Given the description of an element on the screen output the (x, y) to click on. 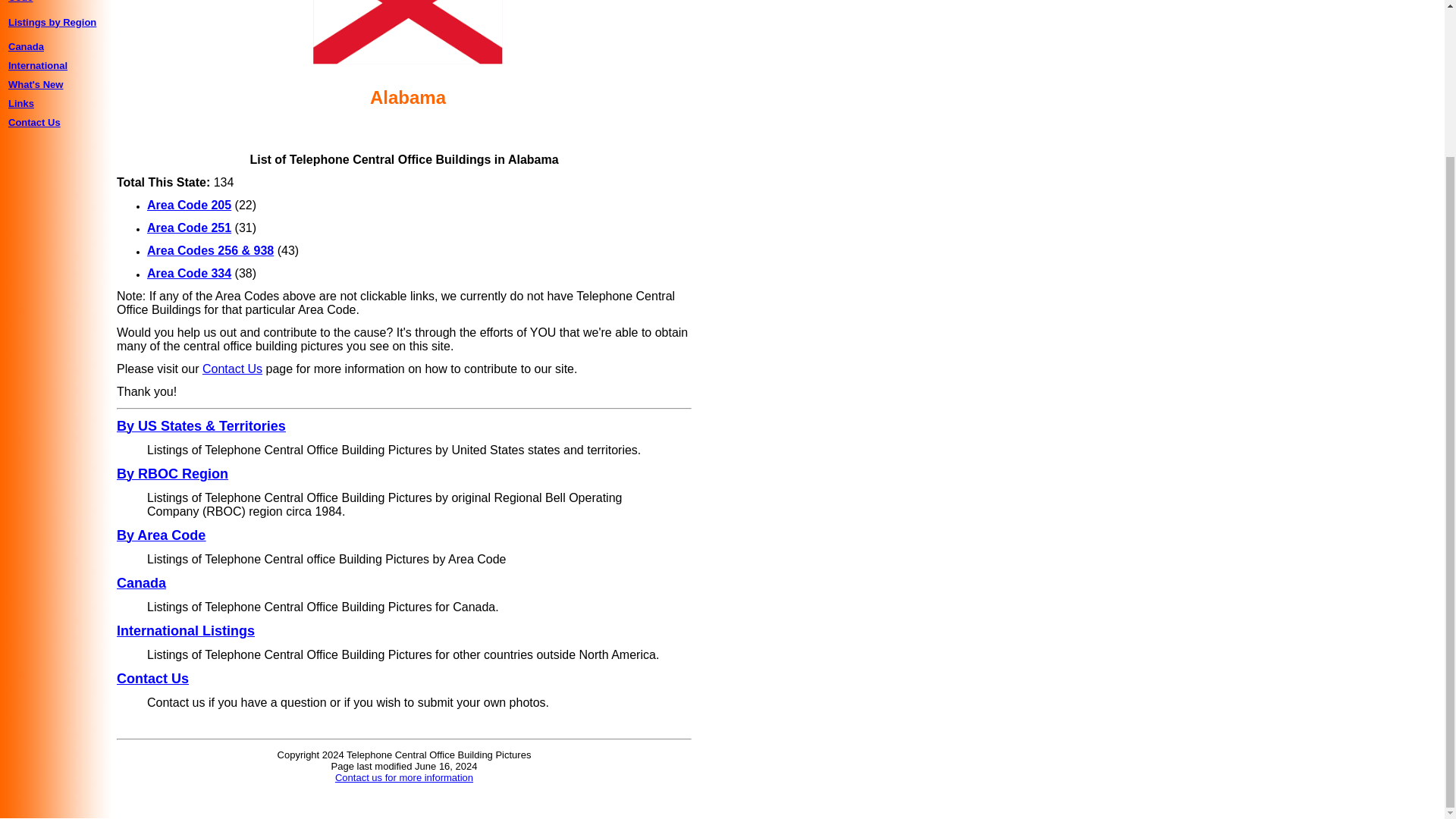
Listings by Region (52, 21)
Canada (25, 46)
Area Code 251 (189, 227)
Contact Us (34, 121)
Contact us for more information (403, 777)
Canada (140, 582)
By RBOC Region (172, 473)
What's New (35, 84)
Links (20, 102)
Area Code 205 (189, 205)
Contact Us (232, 368)
By Area Code (160, 534)
Area Code 334 (189, 273)
International Listings (185, 630)
Listings by Area Code (46, 1)
